Given the description of an element on the screen output the (x, y) to click on. 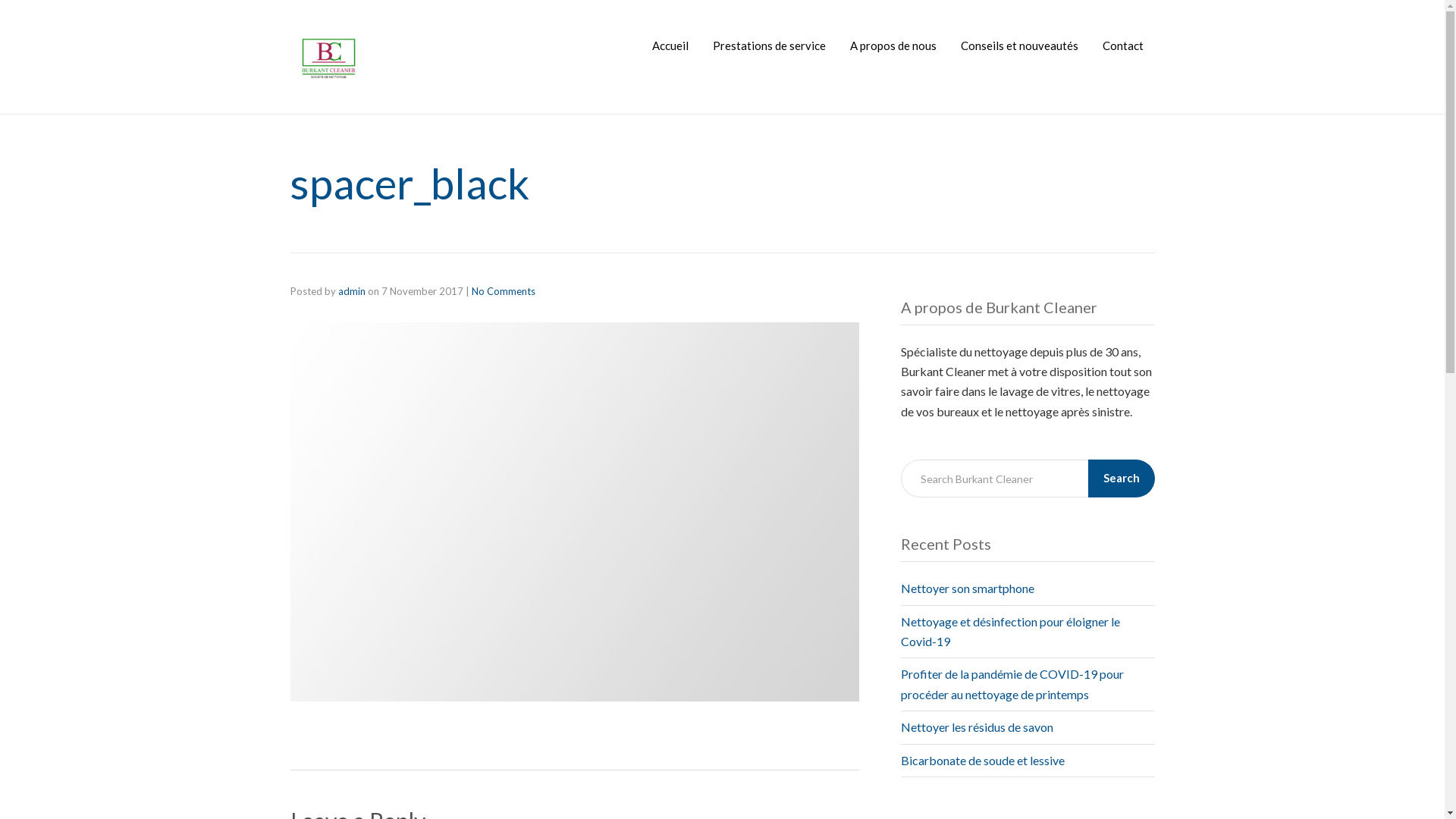
No Comments Element type: text (503, 291)
Contact Element type: text (1122, 45)
Bicarbonate de soude et lessive Element type: text (982, 759)
Nettoyer son smartphone Element type: text (967, 587)
Prestations de service Element type: text (768, 45)
Search Element type: text (1120, 478)
Accueil Element type: text (670, 45)
admin Element type: text (351, 291)
A propos de nous Element type: text (892, 45)
